Given the description of an element on the screen output the (x, y) to click on. 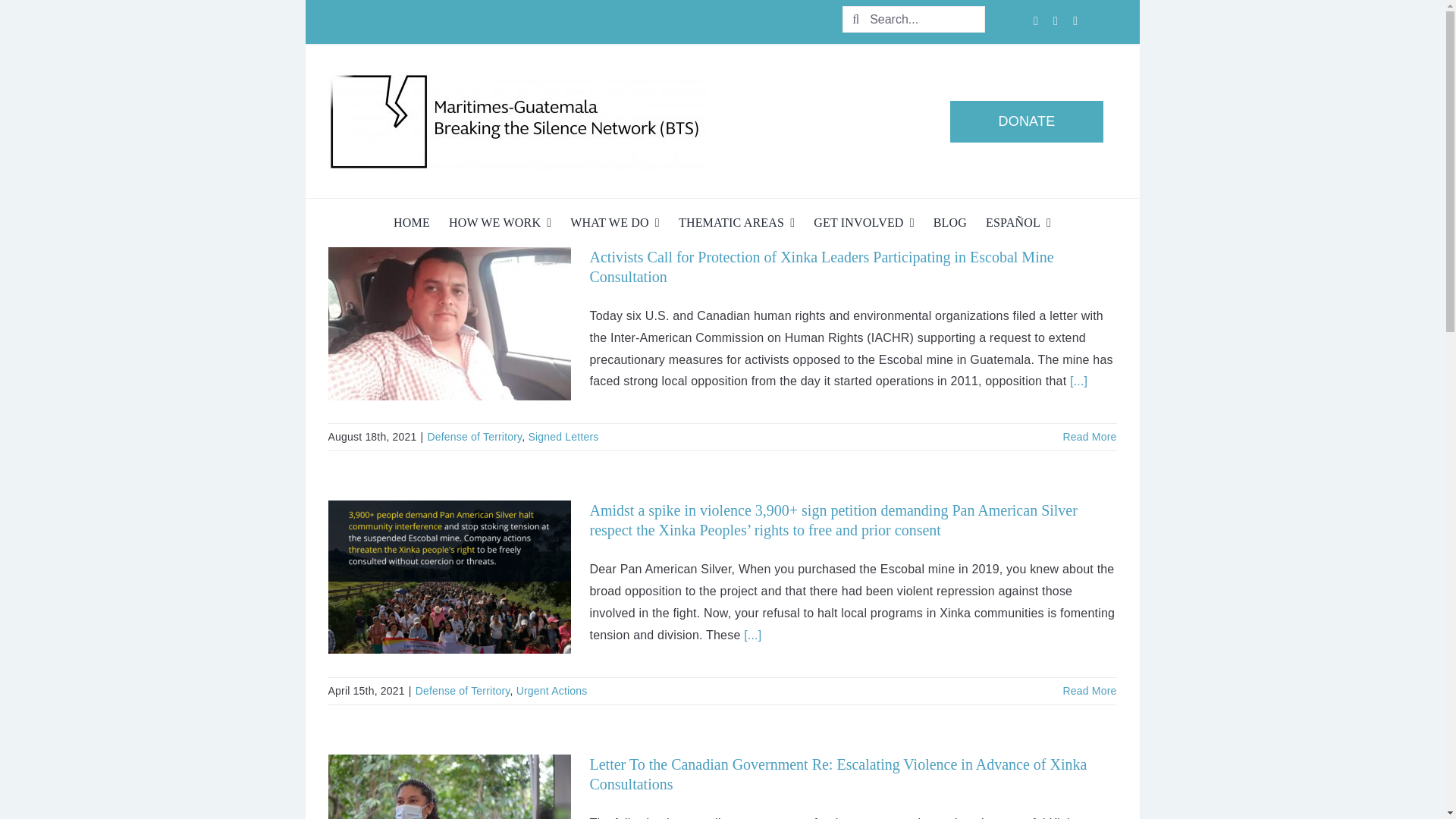
DONATE (1026, 121)
DONATE (721, 122)
Search for: (721, 22)
